Given the description of an element on the screen output the (x, y) to click on. 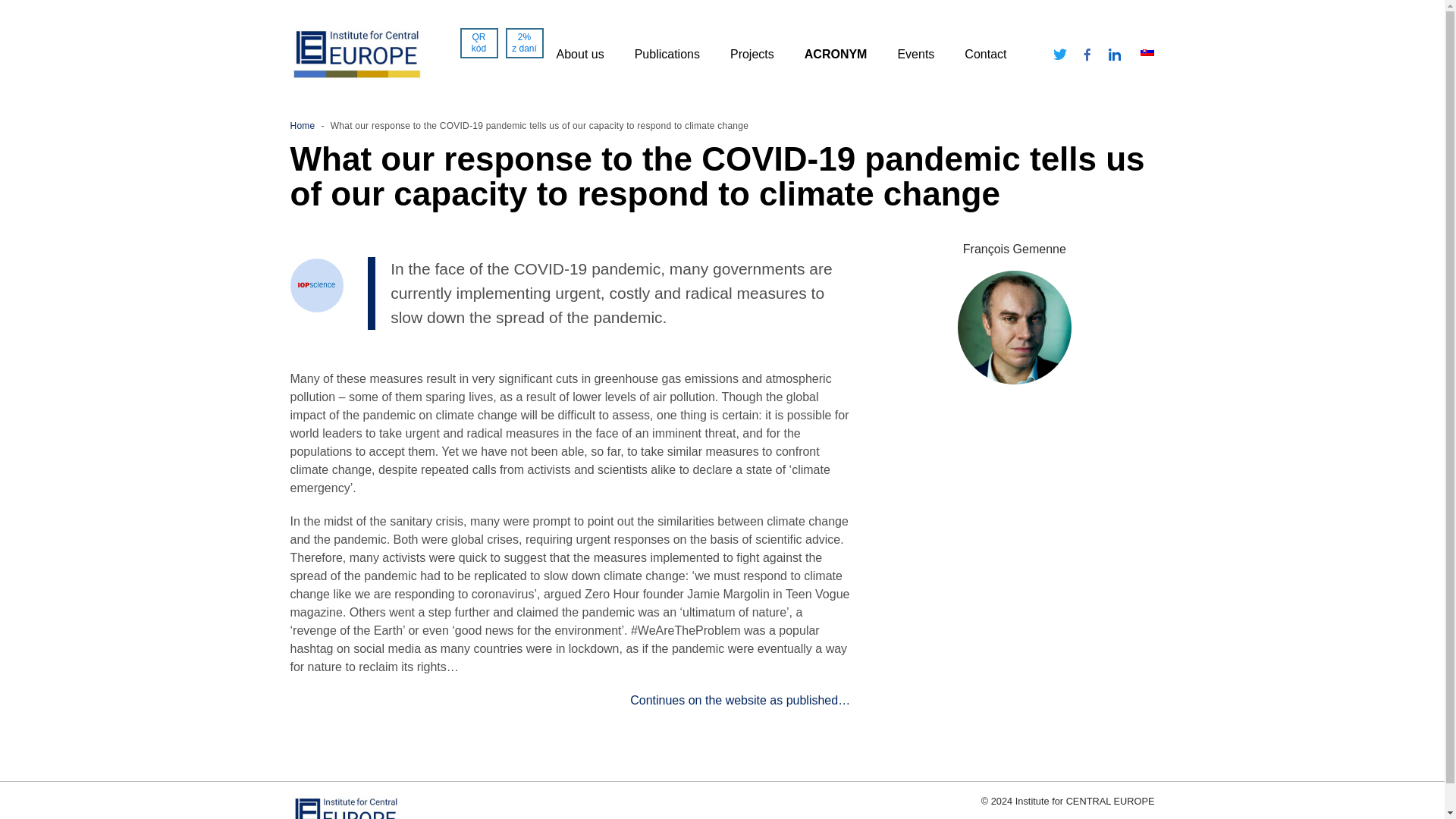
About us (580, 54)
Home (301, 125)
Projects (752, 54)
Publications (667, 54)
ACRONYM (836, 54)
Continues on the website as publishe (730, 699)
Events (915, 54)
Contact (984, 54)
